Given the description of an element on the screen output the (x, y) to click on. 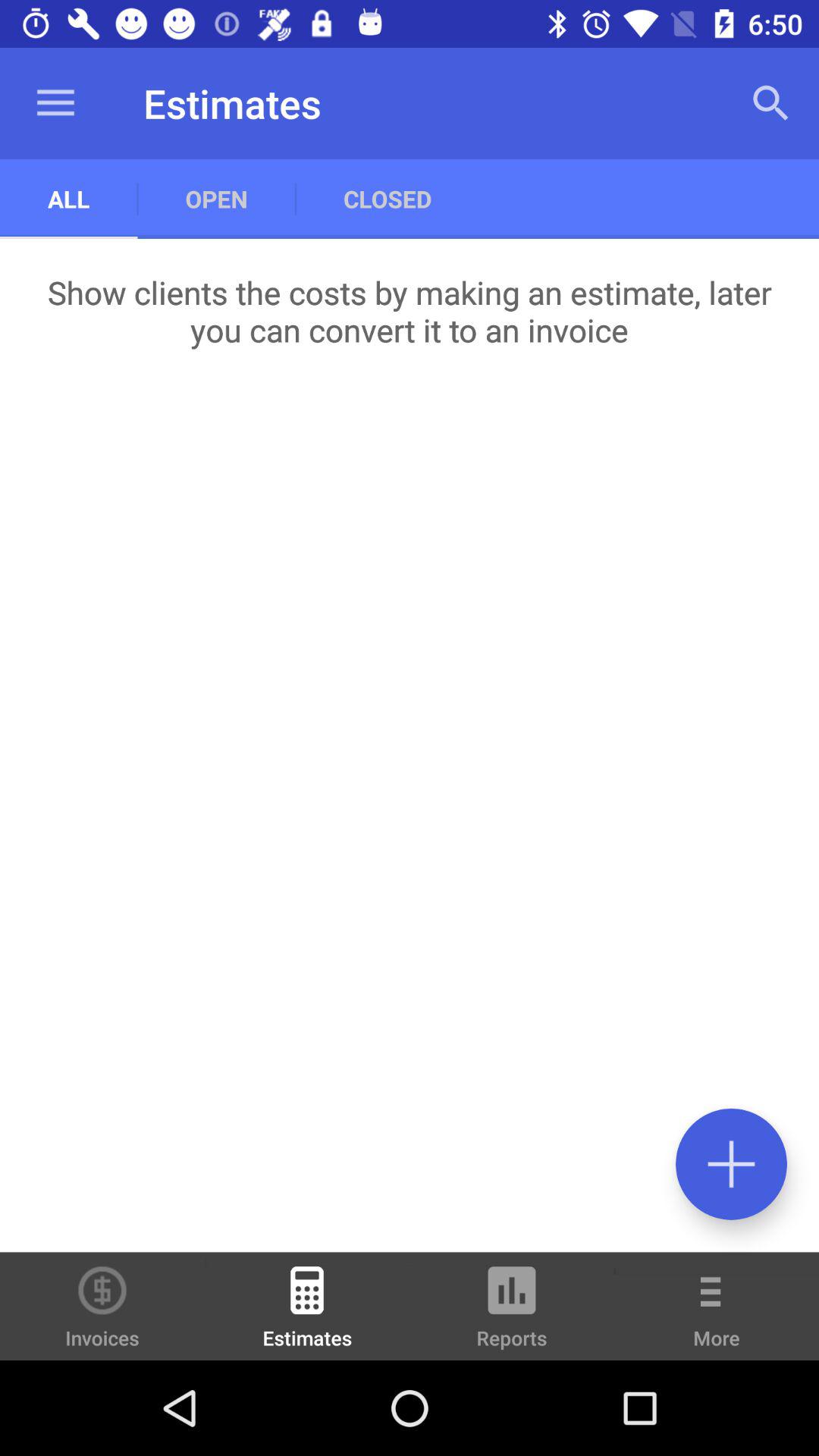
add invoice (731, 1163)
